Given the description of an element on the screen output the (x, y) to click on. 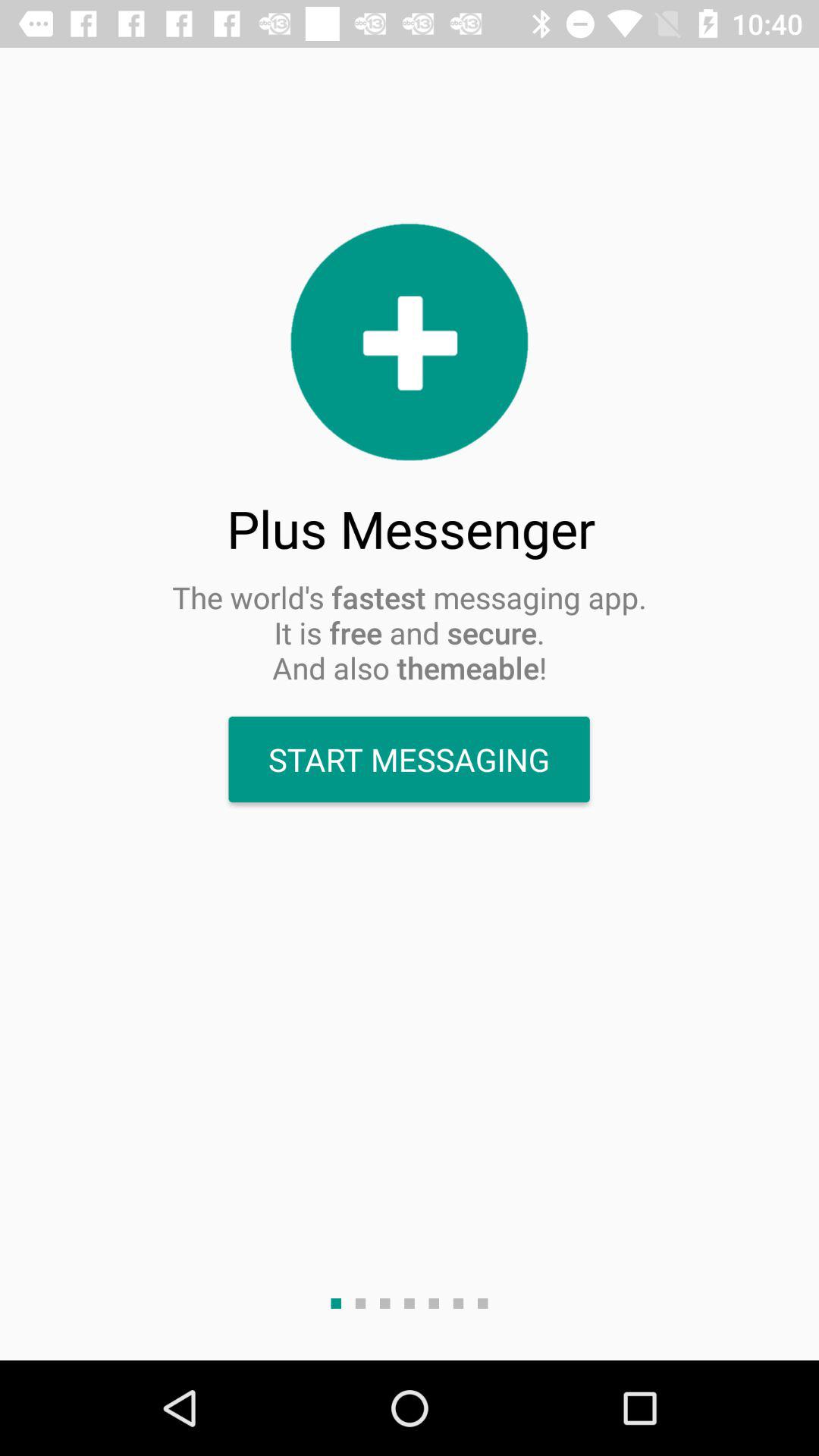
flip to start messaging (408, 759)
